Given the description of an element on the screen output the (x, y) to click on. 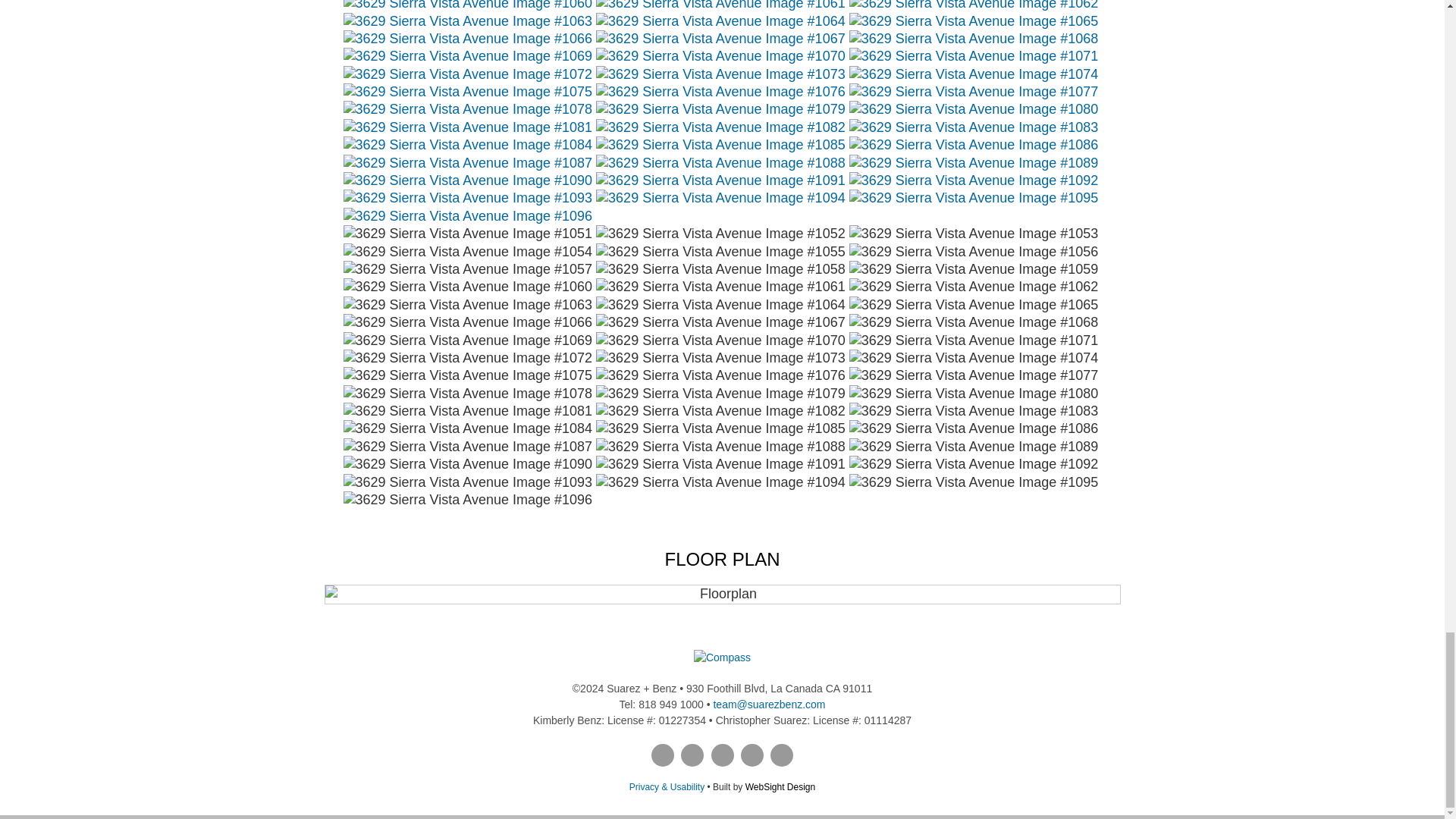
Pinterest (692, 754)
Houzz (781, 754)
LinkedIn (722, 754)
Facebook (662, 754)
Instagram (751, 754)
